Given the description of an element on the screen output the (x, y) to click on. 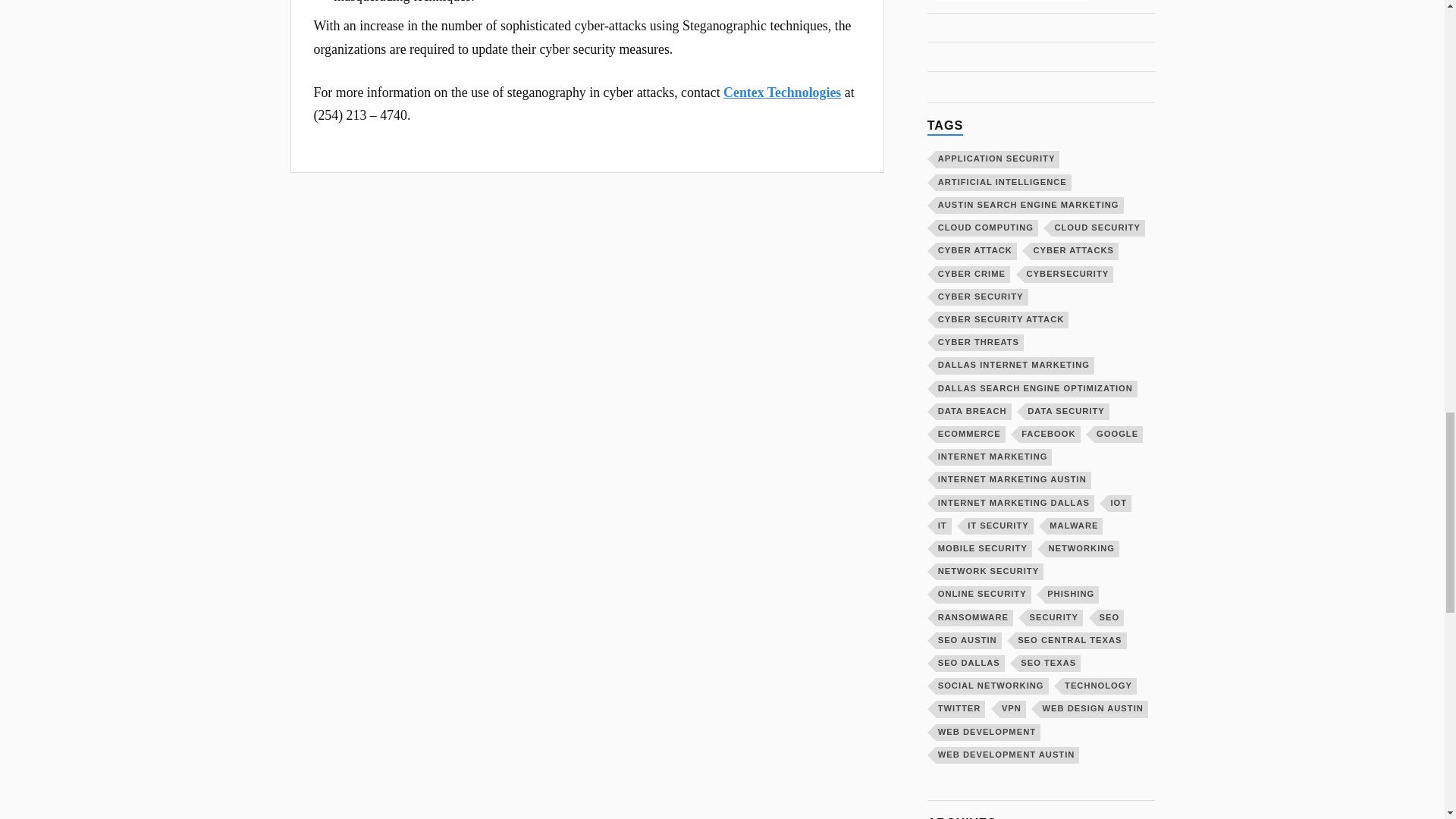
CYBER SECURITY (981, 297)
CYBER SECURITY ATTACK (1002, 320)
CYBER CRIME (973, 273)
CLOUD COMPUTING (987, 228)
Centex Technologies (782, 92)
APPLICATION SECURITY (997, 158)
CYBER THREATS (979, 342)
CLOUD SECURITY (1097, 228)
CYBER ATTACK (976, 250)
CYBER ATTACKS (1074, 250)
